Given the description of an element on the screen output the (x, y) to click on. 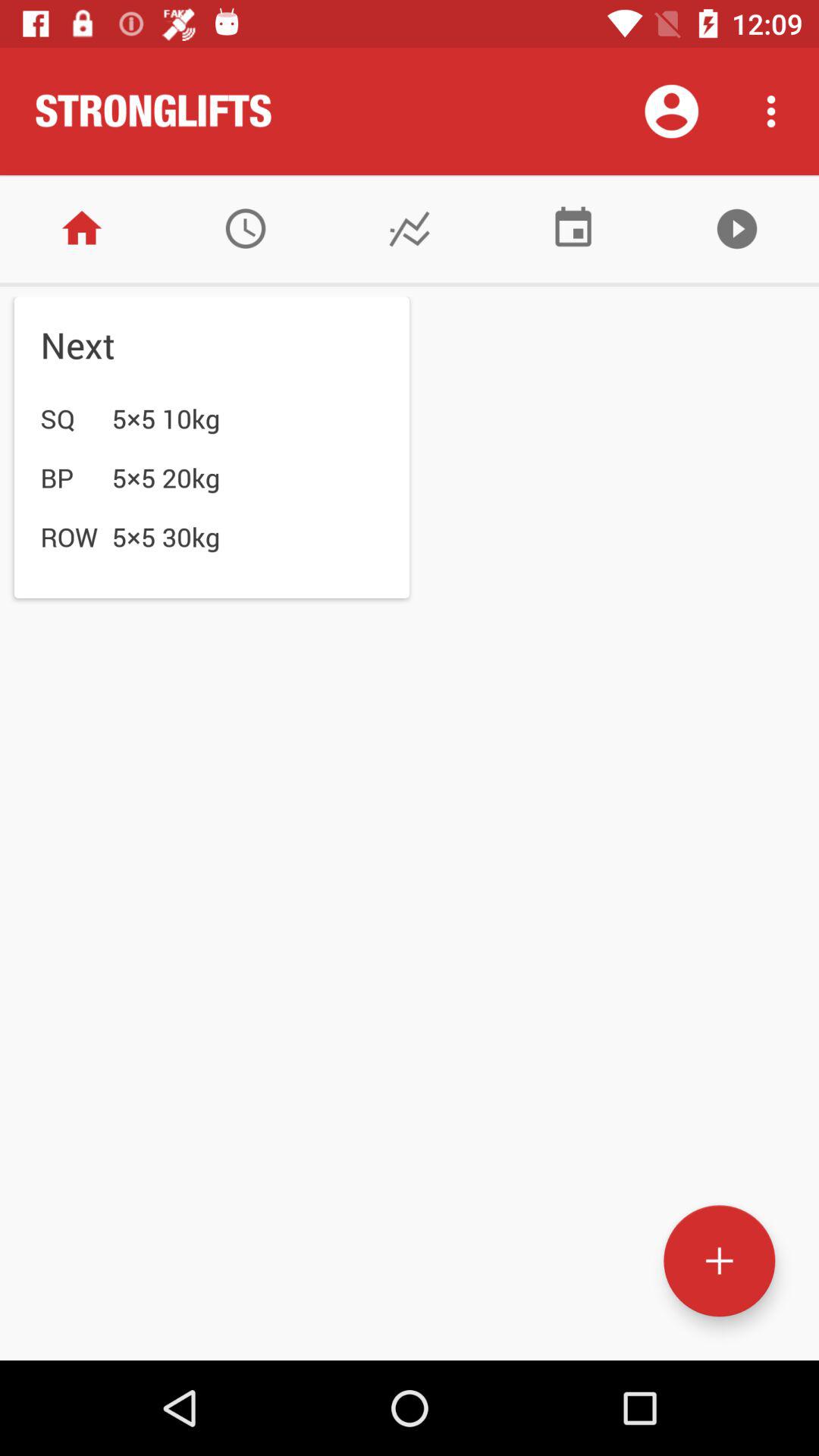
time maintenance button (245, 228)
